Given the description of an element on the screen output the (x, y) to click on. 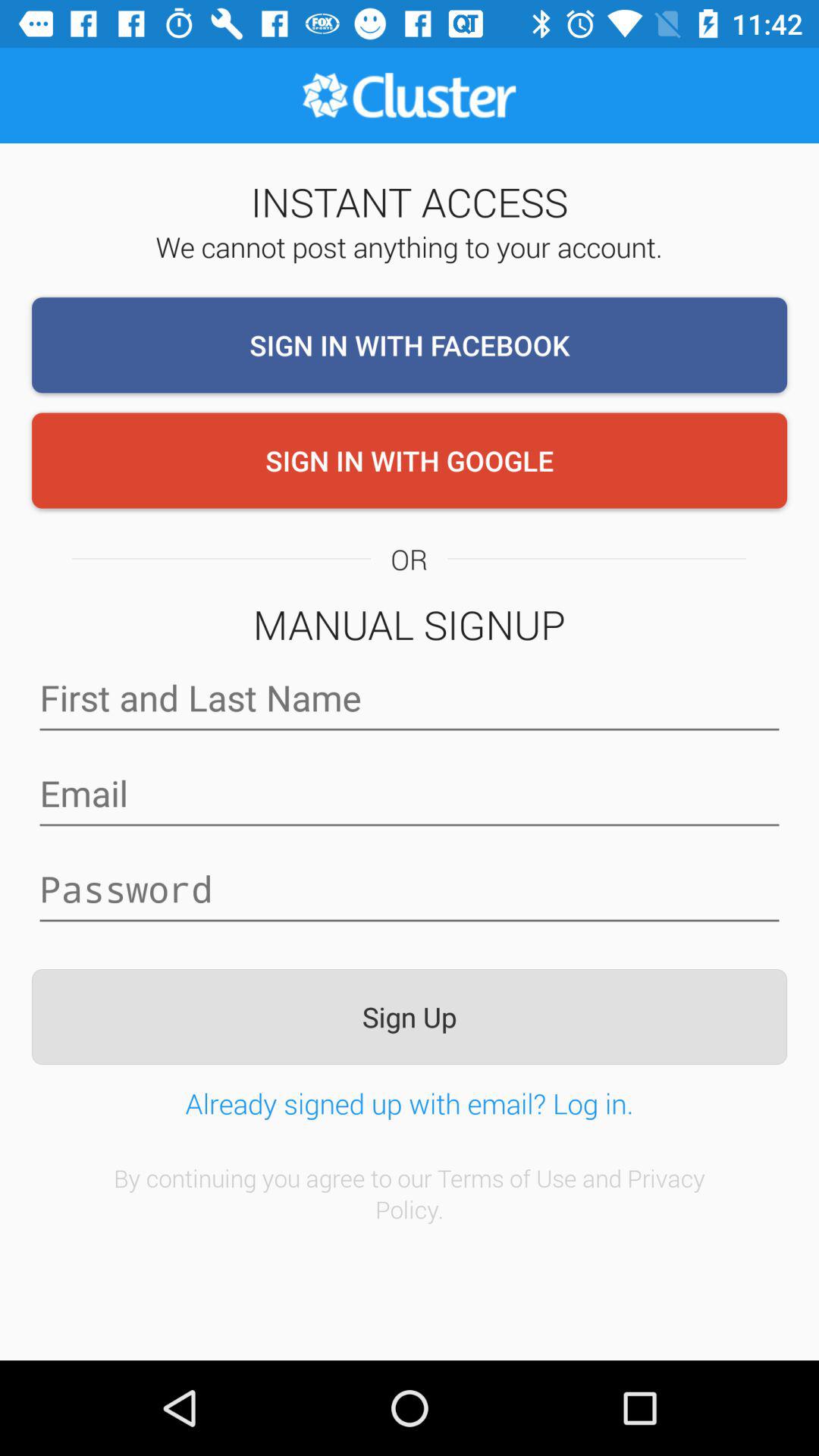
because back devicer (409, 793)
